Given the description of an element on the screen output the (x, y) to click on. 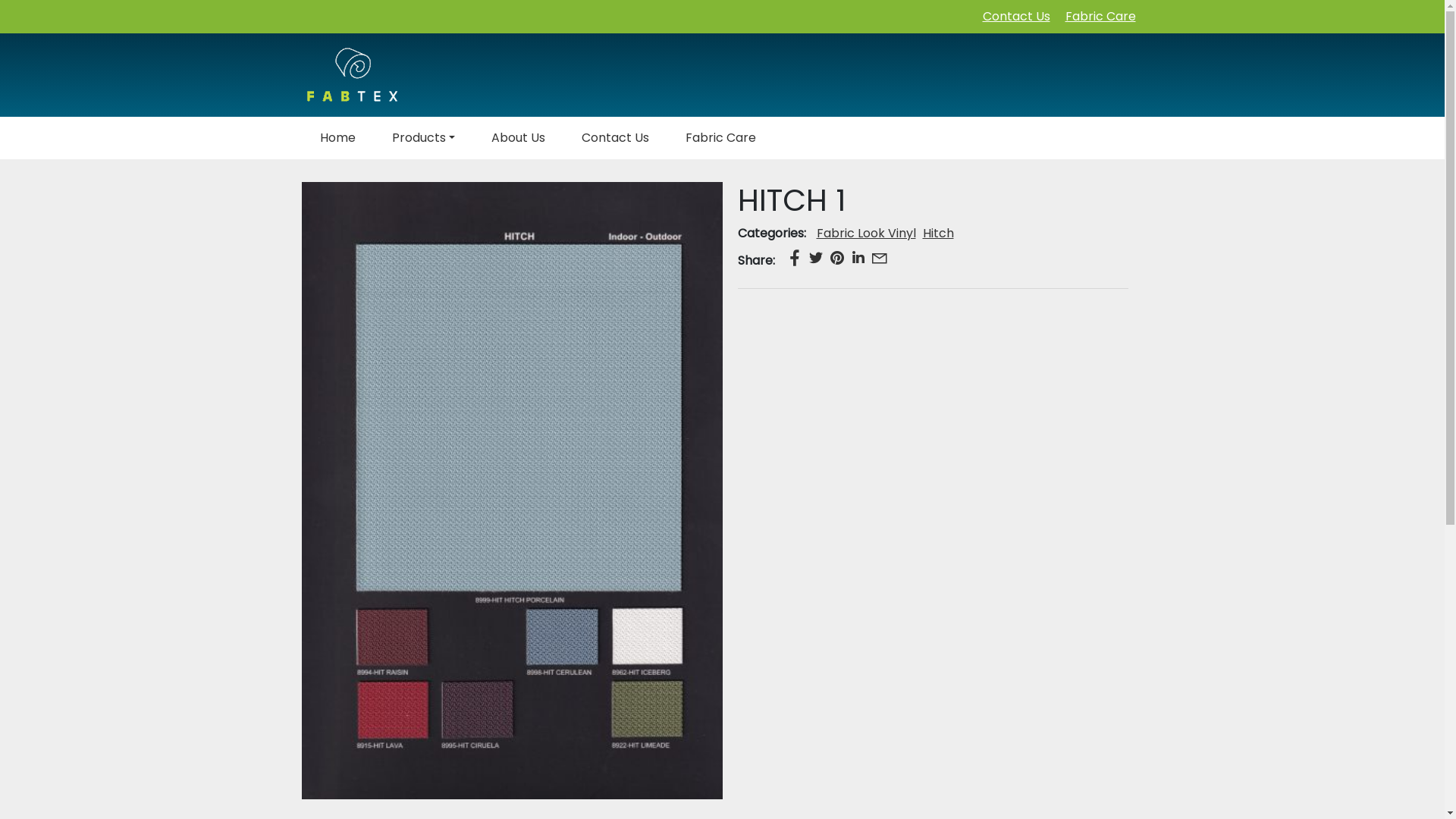
Home Element type: text (337, 137)
Contact Us Element type: text (1016, 16)
Fabric Care Element type: text (1099, 16)
Fabric Care Element type: text (720, 137)
Products Element type: text (422, 137)
Hitch Element type: text (937, 232)
Contact Us Element type: text (615, 137)
About Us Element type: text (518, 137)
Fabric Look Vinyl Element type: text (865, 232)
